Given the description of an element on the screen output the (x, y) to click on. 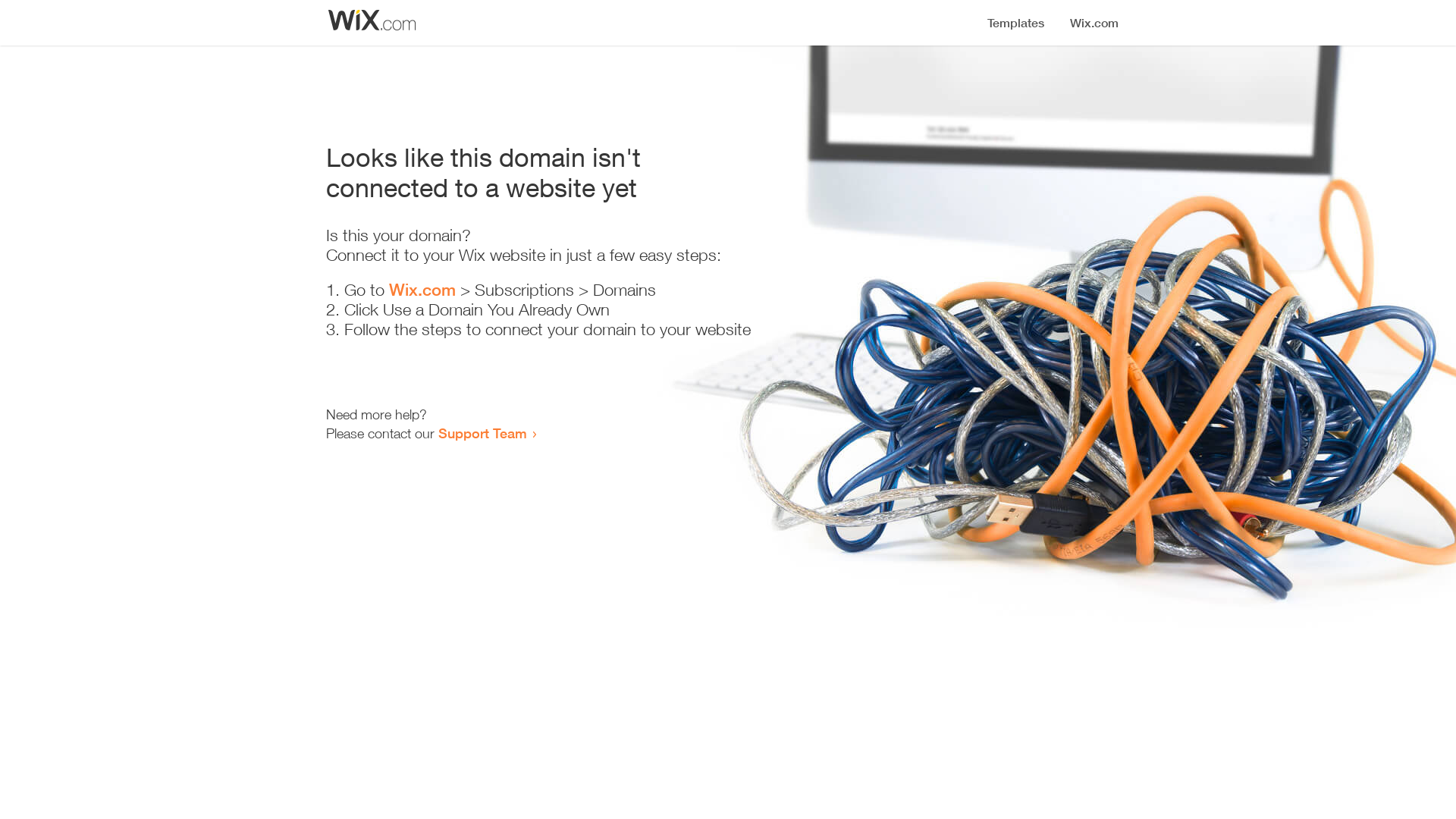
Support Team Element type: text (482, 432)
Wix.com Element type: text (422, 289)
